Given the description of an element on the screen output the (x, y) to click on. 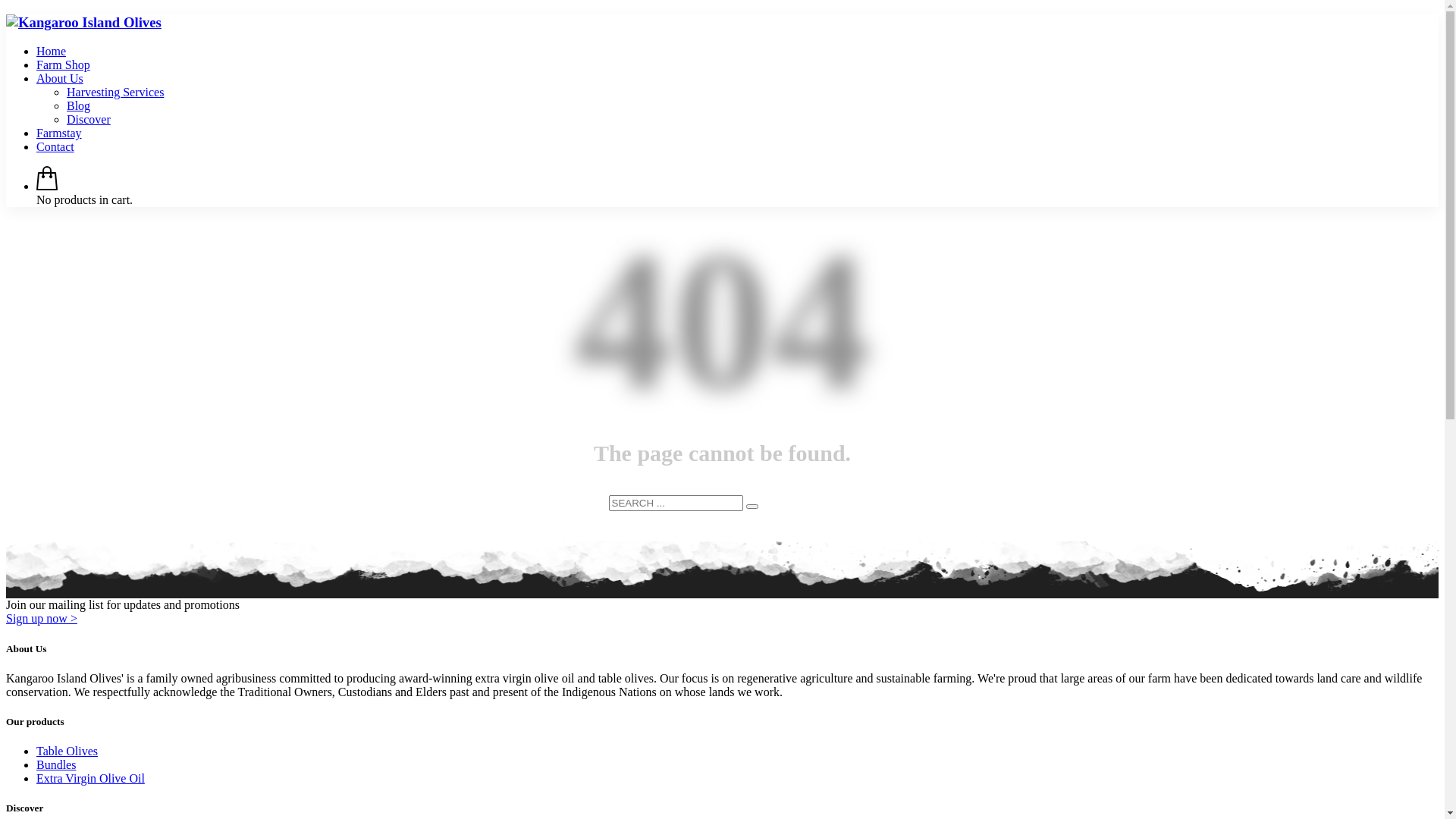
Home Element type: text (50, 50)
Discover Element type: text (88, 118)
go Element type: text (752, 506)
View your shopping cart Element type: hover (46, 185)
Farm Shop Element type: text (63, 64)
Table Olives Element type: text (66, 750)
Award winning olives and olive oil Element type: hover (83, 22)
Extra Virgin Olive Oil Element type: text (90, 777)
Contact Element type: text (55, 146)
Sign up now > Element type: text (41, 617)
Bundles Element type: text (55, 764)
About Us Element type: text (59, 78)
Farmstay Element type: text (58, 132)
Blog Element type: text (78, 105)
Harvesting Services Element type: text (114, 91)
